Given the description of an element on the screen output the (x, y) to click on. 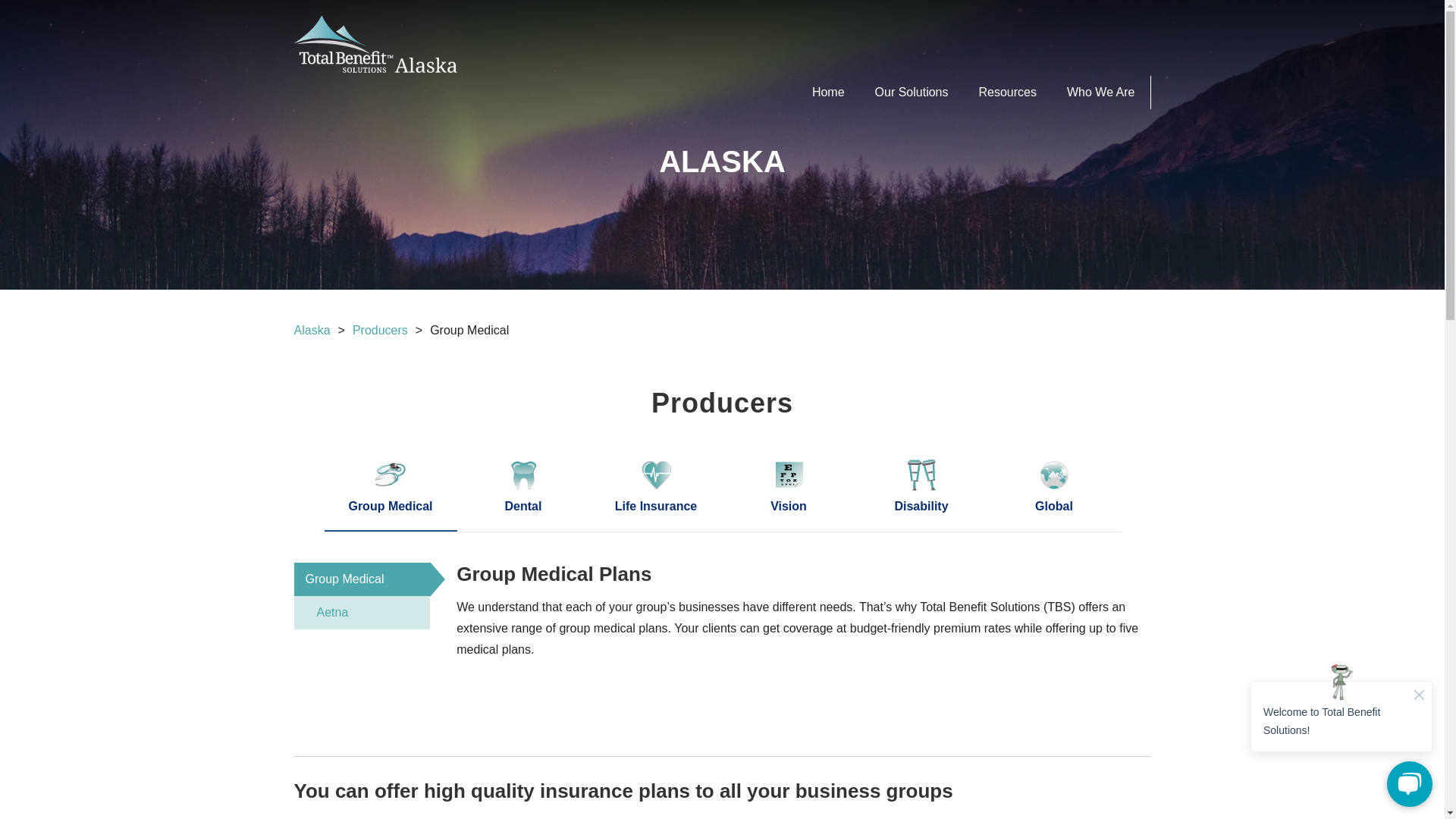
Our Solutions (911, 92)
Home (828, 92)
Who We Are (1101, 92)
tbs-logo-alaska-sky-white (375, 43)
Resources (1006, 92)
